Given the description of an element on the screen output the (x, y) to click on. 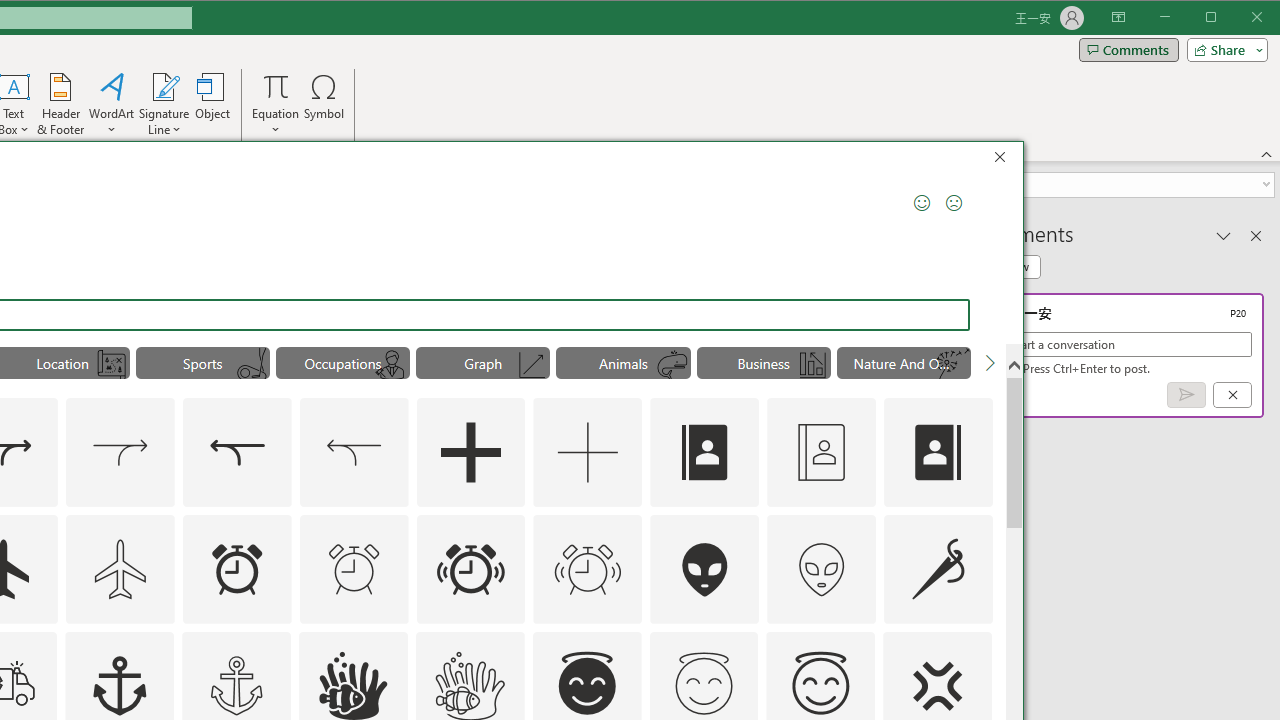
"Nature And Outdoors" Icons. (904, 362)
Maximize (1239, 18)
Symbol... (324, 104)
AutomationID: Icons_Dandelion_M (952, 365)
AutomationID: Icons_Elliptical_M (252, 365)
Equation (275, 104)
AutomationID: Icons_LinearGraph_LTR_M (532, 365)
